Given the description of an element on the screen output the (x, y) to click on. 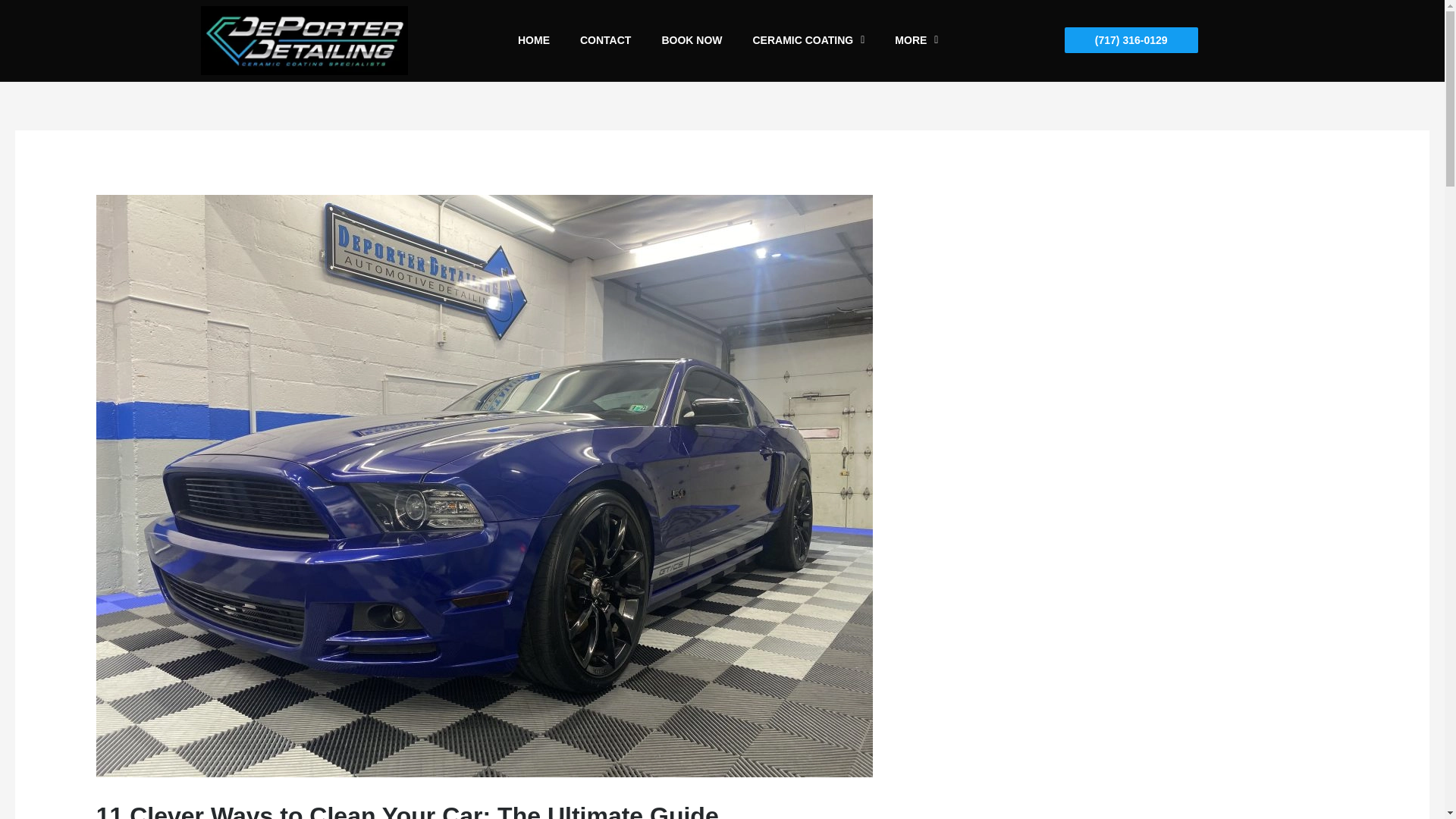
MORE (916, 40)
CONTACT (605, 40)
CERAMIC COATING (807, 40)
BOOK NOW (691, 40)
HOME (533, 40)
